Given the description of an element on the screen output the (x, y) to click on. 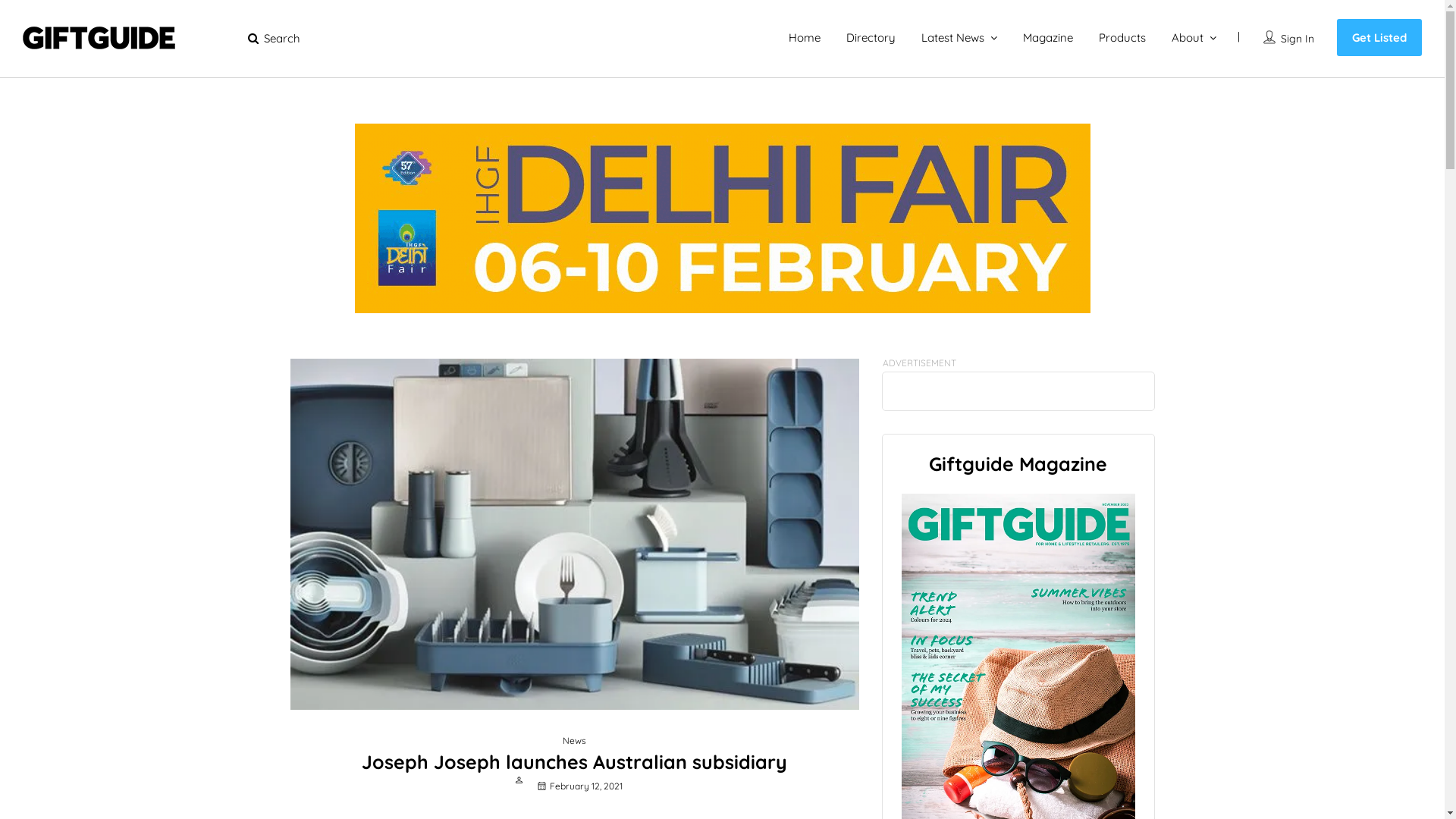
Magazine Element type: text (1047, 37)
Latest News Element type: text (952, 37)
Directory Element type: text (870, 37)
Get Listed Element type: text (1378, 37)
Sign In Element type: text (1297, 38)
Products Element type: text (1121, 37)
News Element type: text (574, 739)
About Element type: text (1187, 37)
3rd party ad content Element type: hover (722, 218)
Home Element type: text (804, 37)
